Given the description of an element on the screen output the (x, y) to click on. 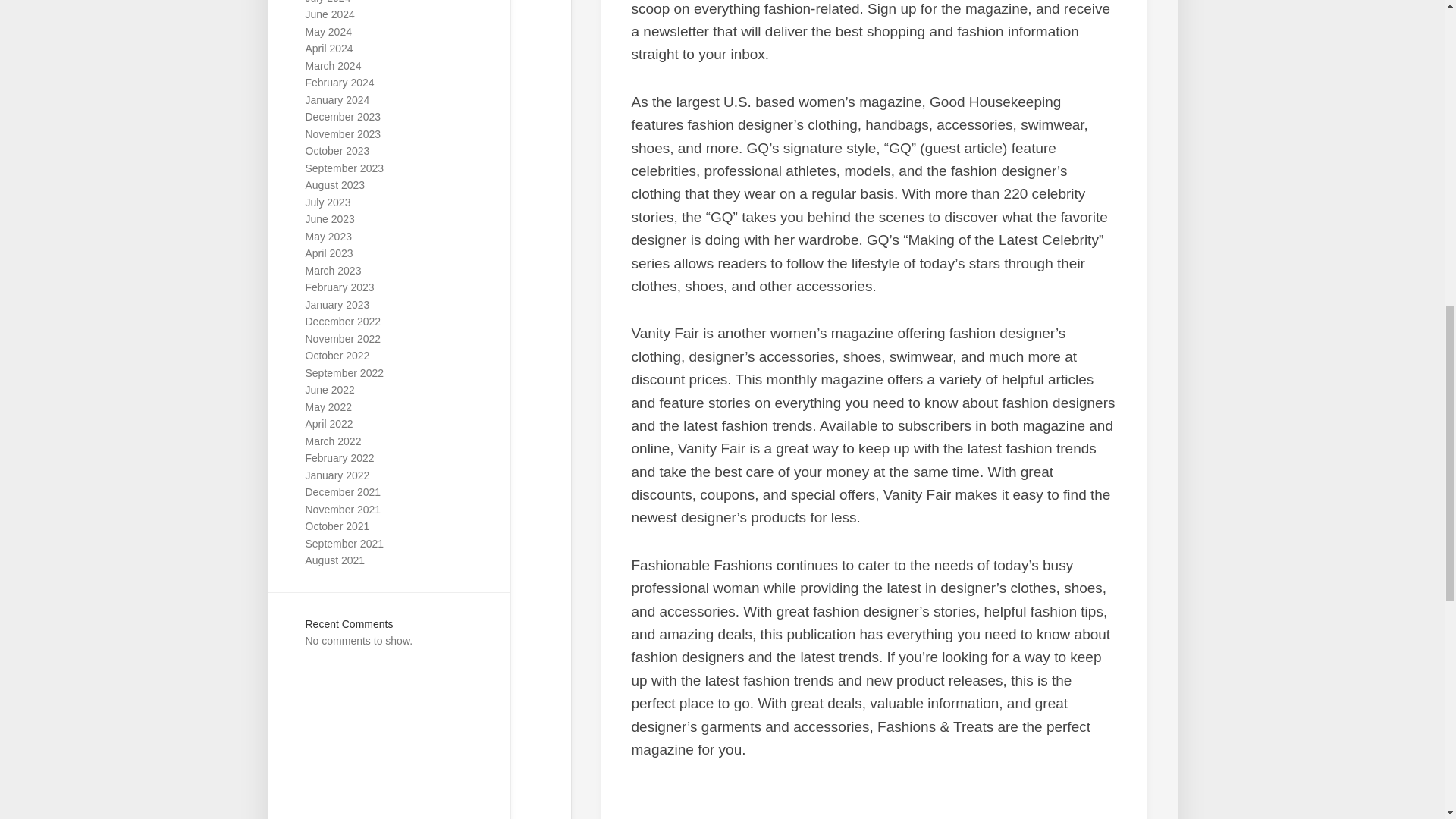
July 2023 (327, 202)
April 2023 (328, 253)
June 2023 (328, 218)
November 2023 (342, 133)
October 2023 (336, 150)
February 2023 (339, 287)
March 2023 (332, 270)
May 2023 (327, 236)
January 2024 (336, 100)
October 2022 (336, 355)
